Given the description of an element on the screen output the (x, y) to click on. 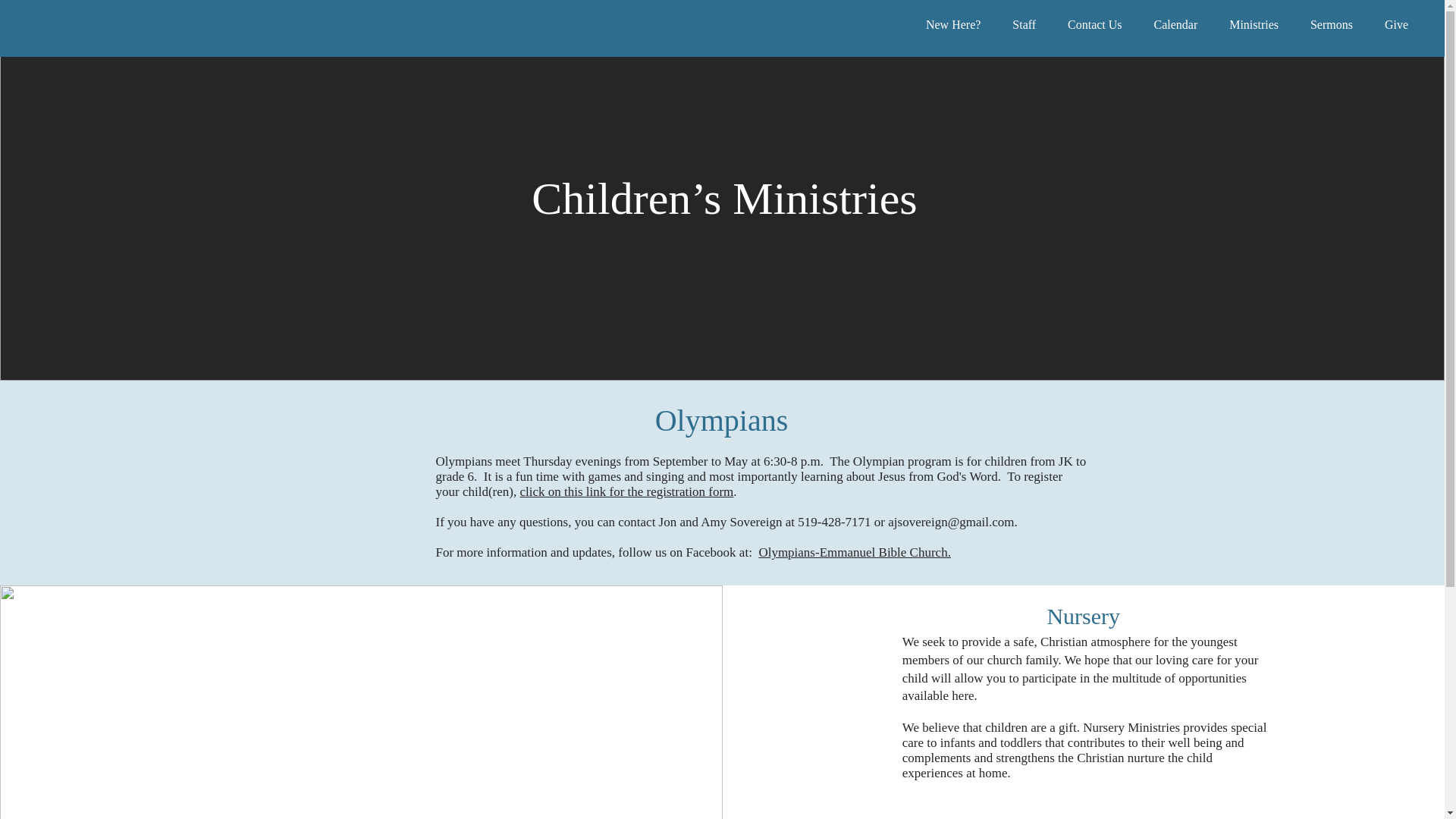
New Here? (952, 24)
Ministries (1253, 24)
Contact Us (1094, 24)
click on this link for the registration form (626, 491)
Sermons (1331, 24)
Staff (1023, 24)
Calendar (1176, 24)
Olympians-Emmanuel Bible Church. (854, 552)
Give (1396, 24)
